Given the description of an element on the screen output the (x, y) to click on. 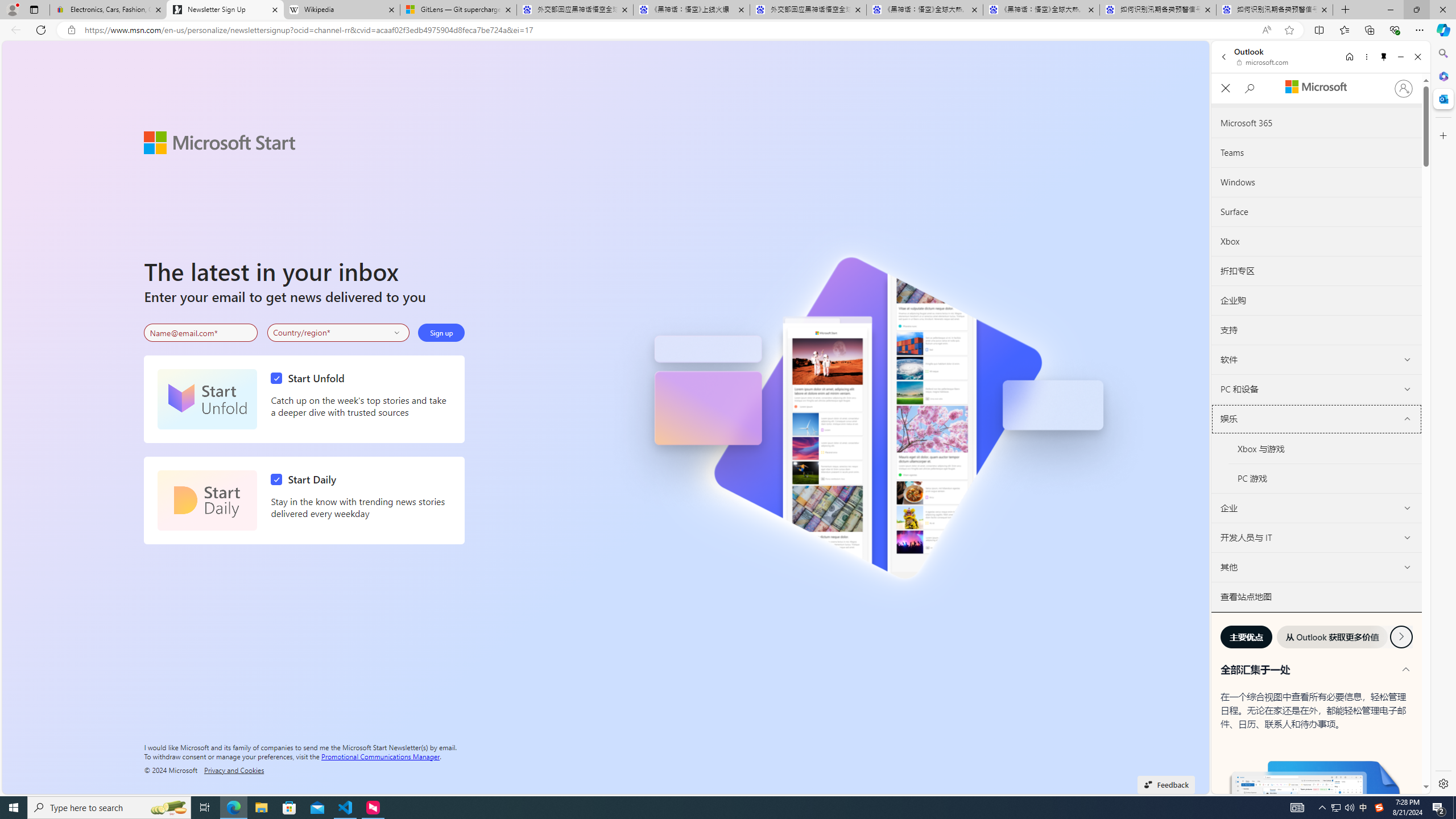
Promotional Communications Manager (380, 755)
Start Daily (207, 500)
